Given the description of an element on the screen output the (x, y) to click on. 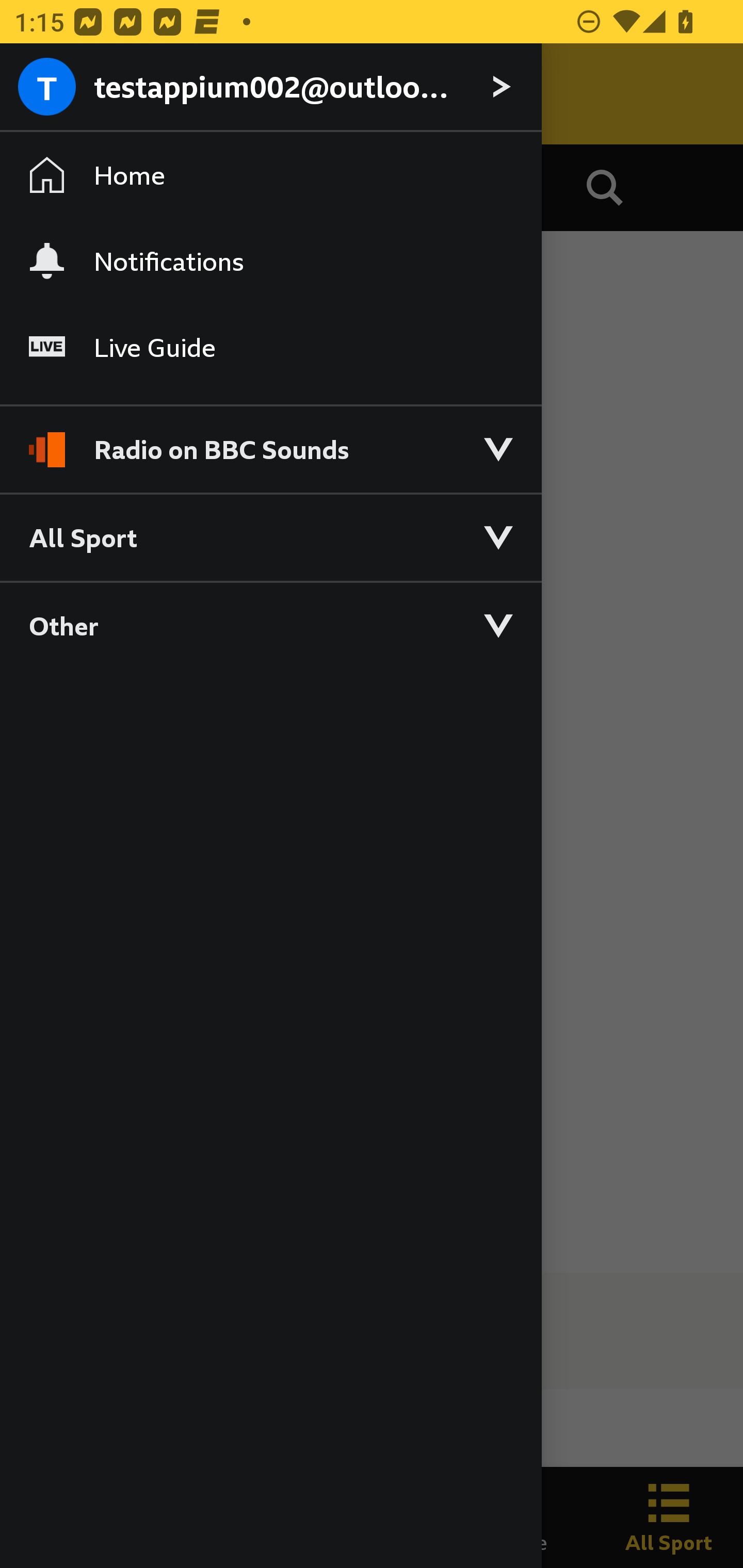
Close Menu (50, 93)
testappium002@outlook.com (270, 87)
Home (270, 174)
Notifications (270, 260)
Live Guide (270, 347)
Radio on BBC Sounds (270, 441)
All Sport (270, 536)
Other (270, 624)
